Given the description of an element on the screen output the (x, y) to click on. 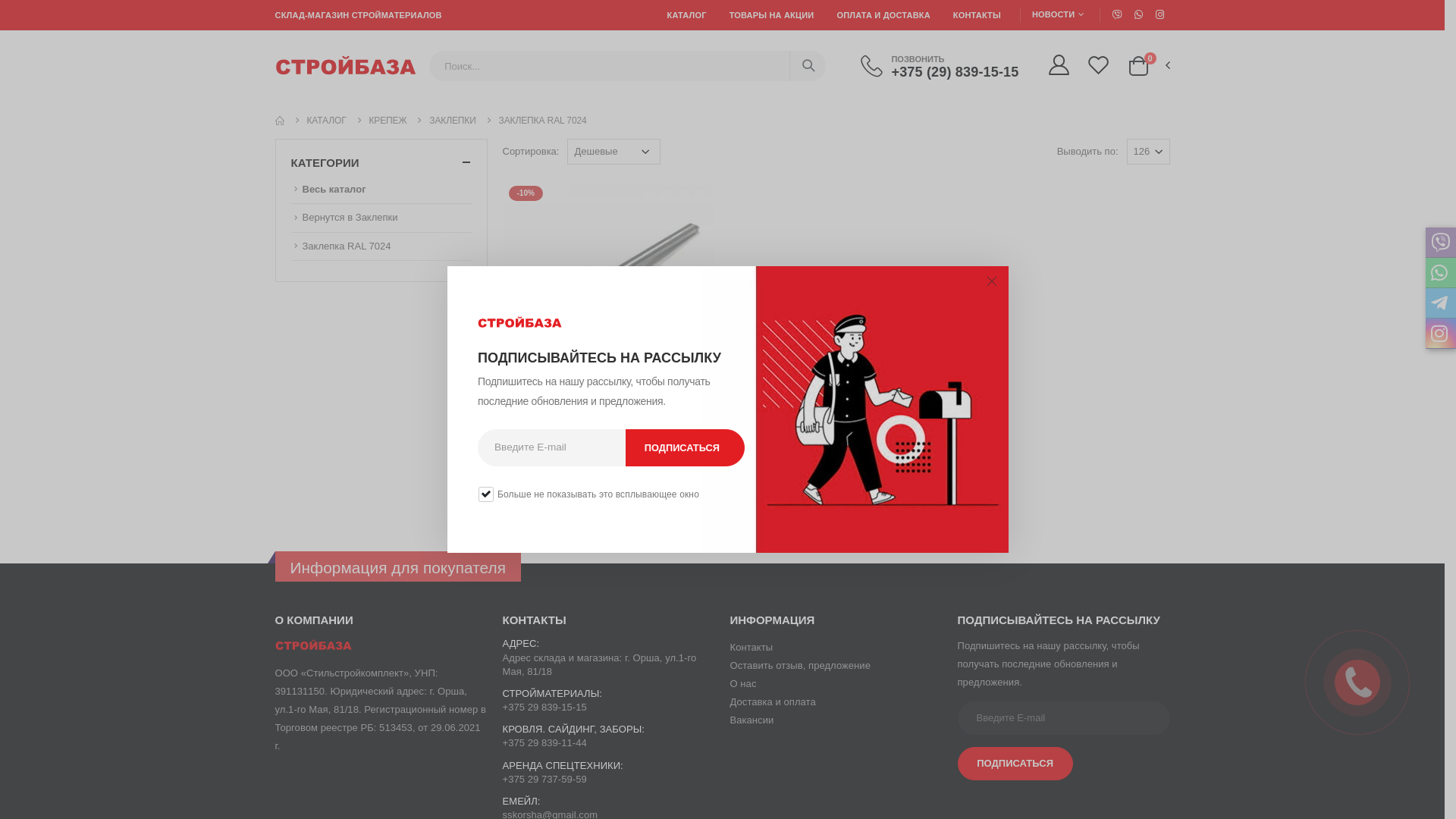
+375 29 737-59-59 Element type: text (544, 778)
+375 29 839-11-44 Element type: text (544, 742)
0 Element type: text (1138, 65)
+375 29 839-15-15 Element type: text (544, 706)
+375 (29) 839-15-15 Element type: text (954, 71)
